Given the description of an element on the screen output the (x, y) to click on. 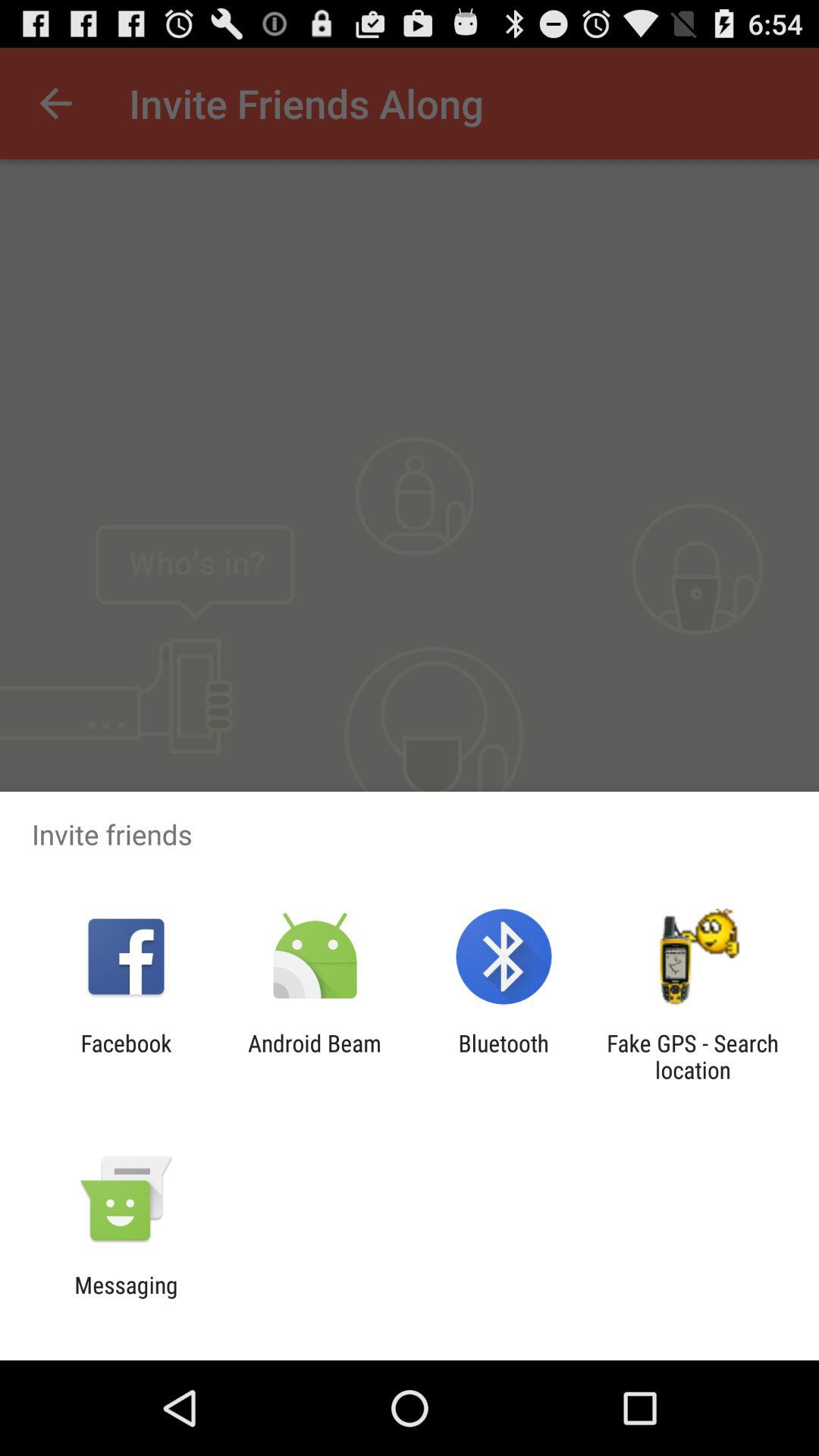
turn on fake gps search icon (692, 1056)
